Given the description of an element on the screen output the (x, y) to click on. 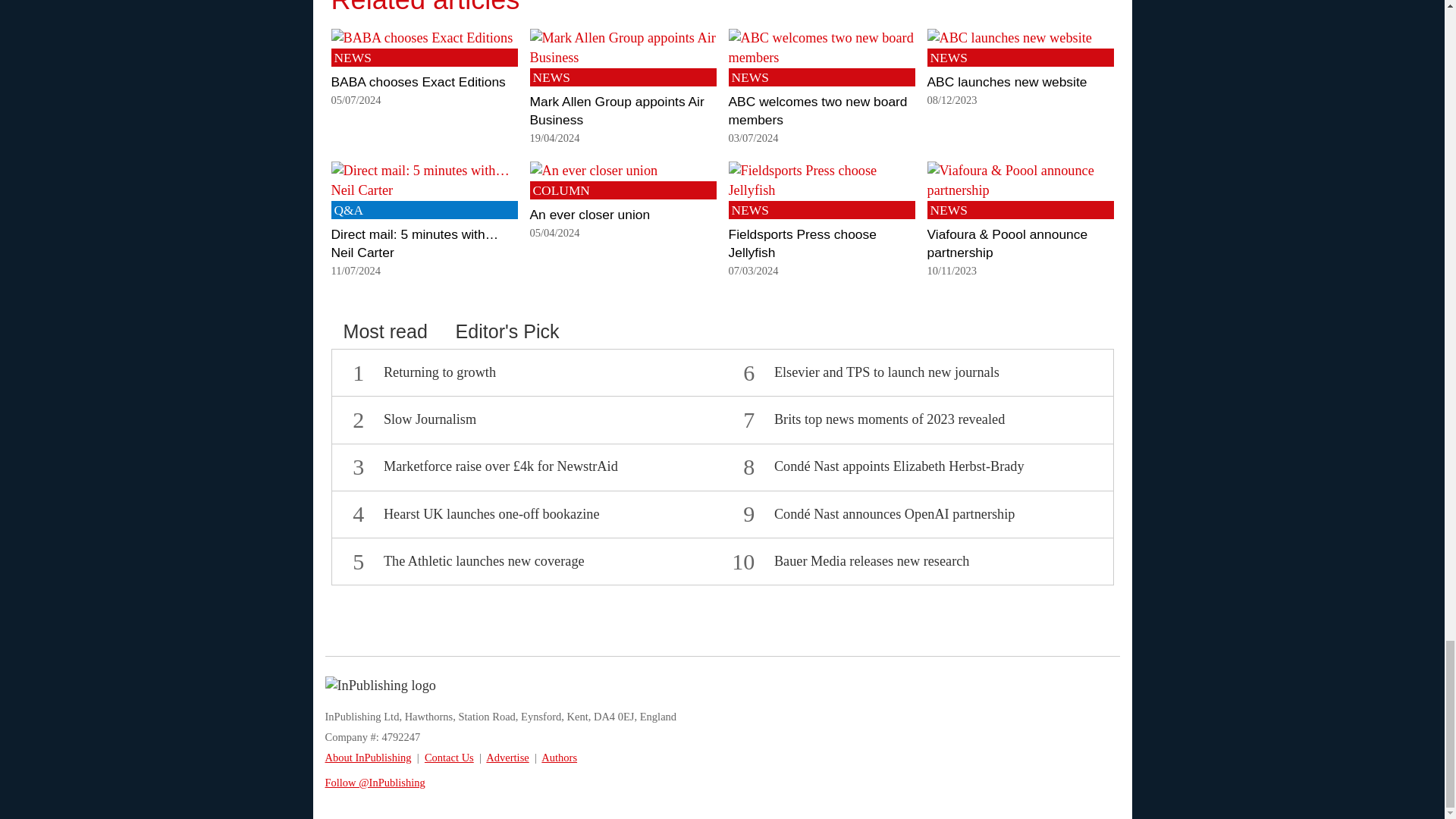
Slow Journalism (430, 418)
Brits top news moments of 2023 revealed (889, 418)
Returning to growth (440, 372)
Elsevier and TPS to launch new journals (886, 372)
